Given the description of an element on the screen output the (x, y) to click on. 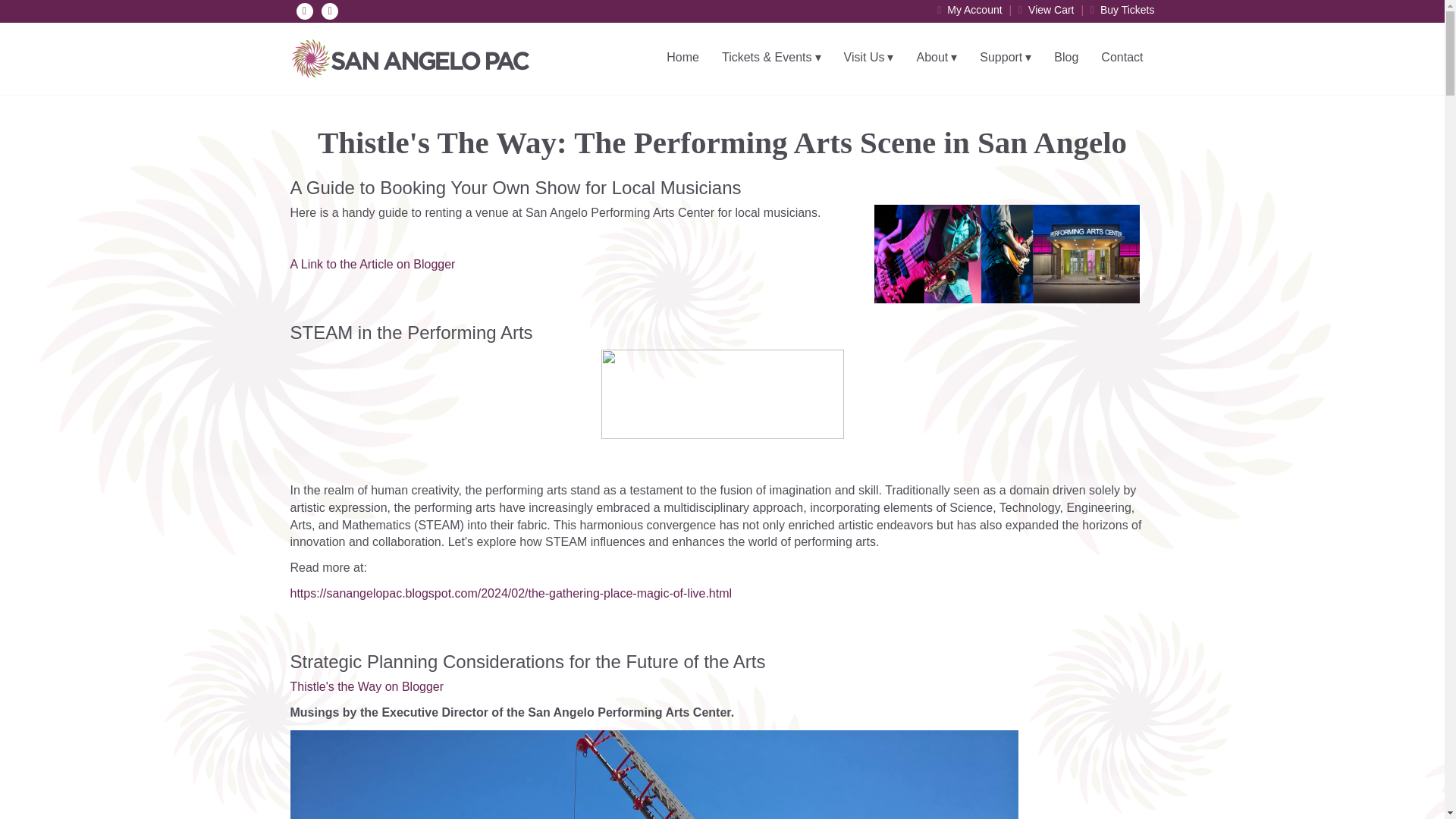
Visit Us (868, 57)
View Cart (1045, 9)
About (936, 57)
Support (1005, 57)
Visit Us (868, 57)
Home (682, 57)
Home (682, 57)
My Account (969, 9)
Buy Tickets (1122, 9)
About (936, 57)
